Given the description of an element on the screen output the (x, y) to click on. 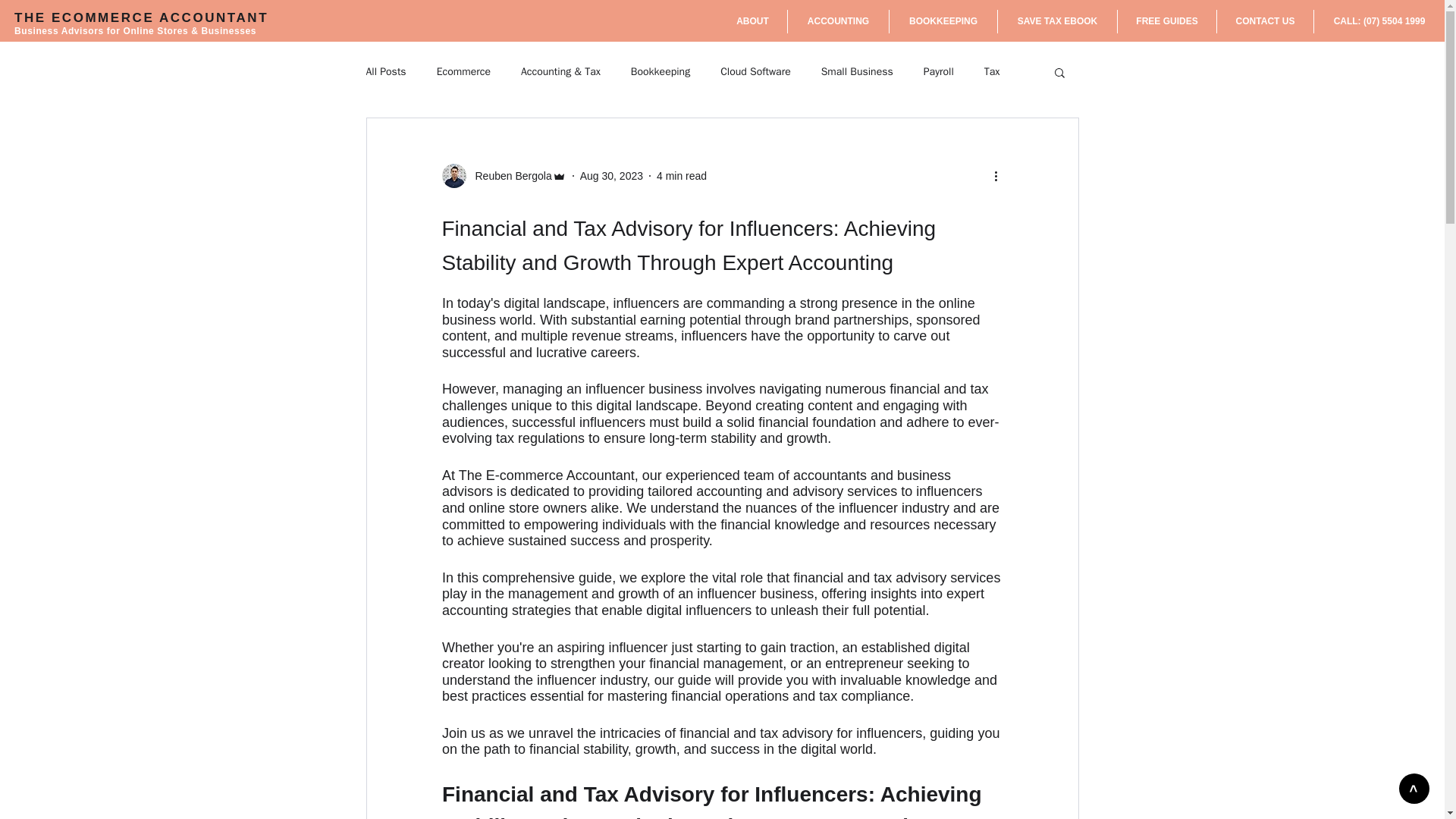
Small Business (857, 71)
Tax (992, 71)
FREE GUIDES (1166, 21)
Payroll (938, 71)
Cloud Software (755, 71)
All Posts (385, 71)
SAVE TAX EBOOK (1056, 21)
ACCOUNTING (837, 21)
4 min read (681, 175)
THE ECOMMERCE ACCOUNTANT (140, 17)
Aug 30, 2023 (611, 175)
CONTACT US (1265, 21)
Reuben Bergola (503, 175)
ABOUT (752, 21)
Reuben Bergola (508, 176)
